Given the description of an element on the screen output the (x, y) to click on. 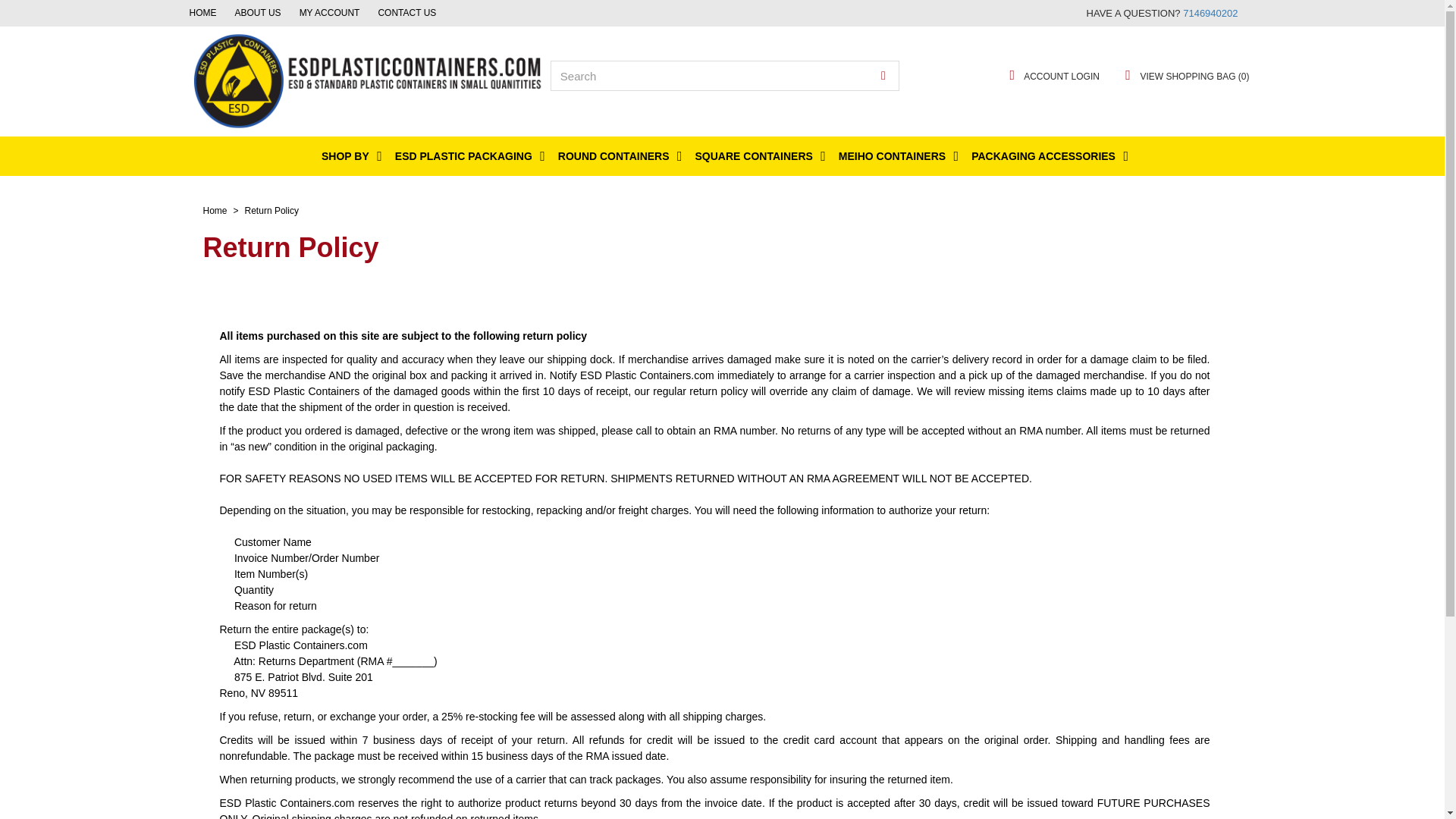
SQUARE CONTAINERS (757, 156)
ESD PLASTIC PACKAGING (466, 156)
HOME (1188, 13)
ROUND CONTAINERS (616, 156)
MY ACCOUNT (1193, 13)
ACCOUNT LOGIN (1051, 76)
ABOUT US (1190, 13)
SHOP BY (349, 156)
CONTACT US (1195, 13)
